Given the description of an element on the screen output the (x, y) to click on. 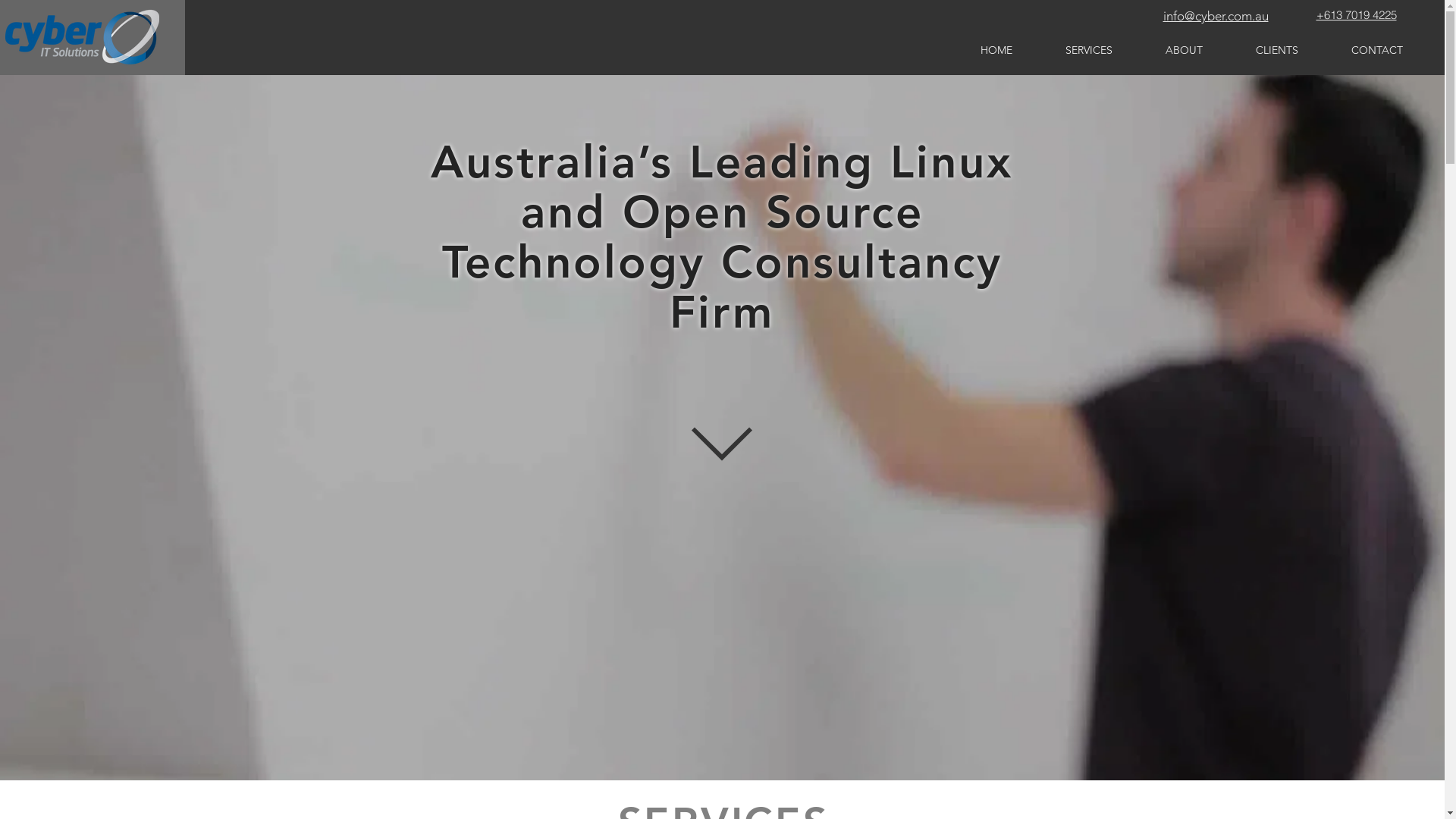
CLIENTS Element type: text (1276, 50)
SERVICES Element type: text (1088, 50)
info@cyber.com.au Element type: text (1215, 15)
HOME Element type: text (995, 50)
ABOUT Element type: text (1184, 50)
+613 7019 4225 Element type: text (1356, 14)
CONTACT Element type: text (1376, 50)
